Given the description of an element on the screen output the (x, y) to click on. 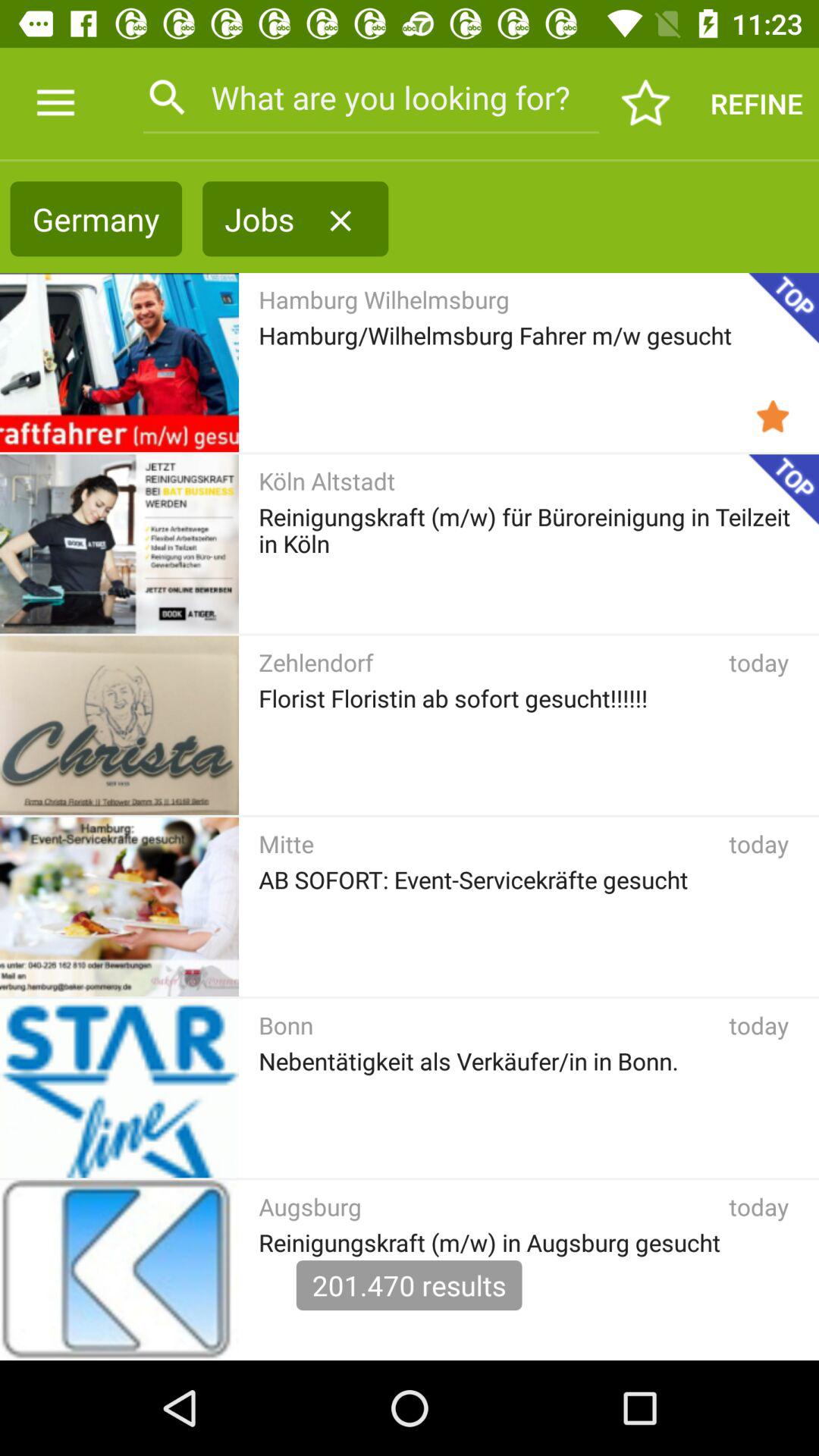
tap the icon next to the jobs (340, 220)
